Given the description of an element on the screen output the (x, y) to click on. 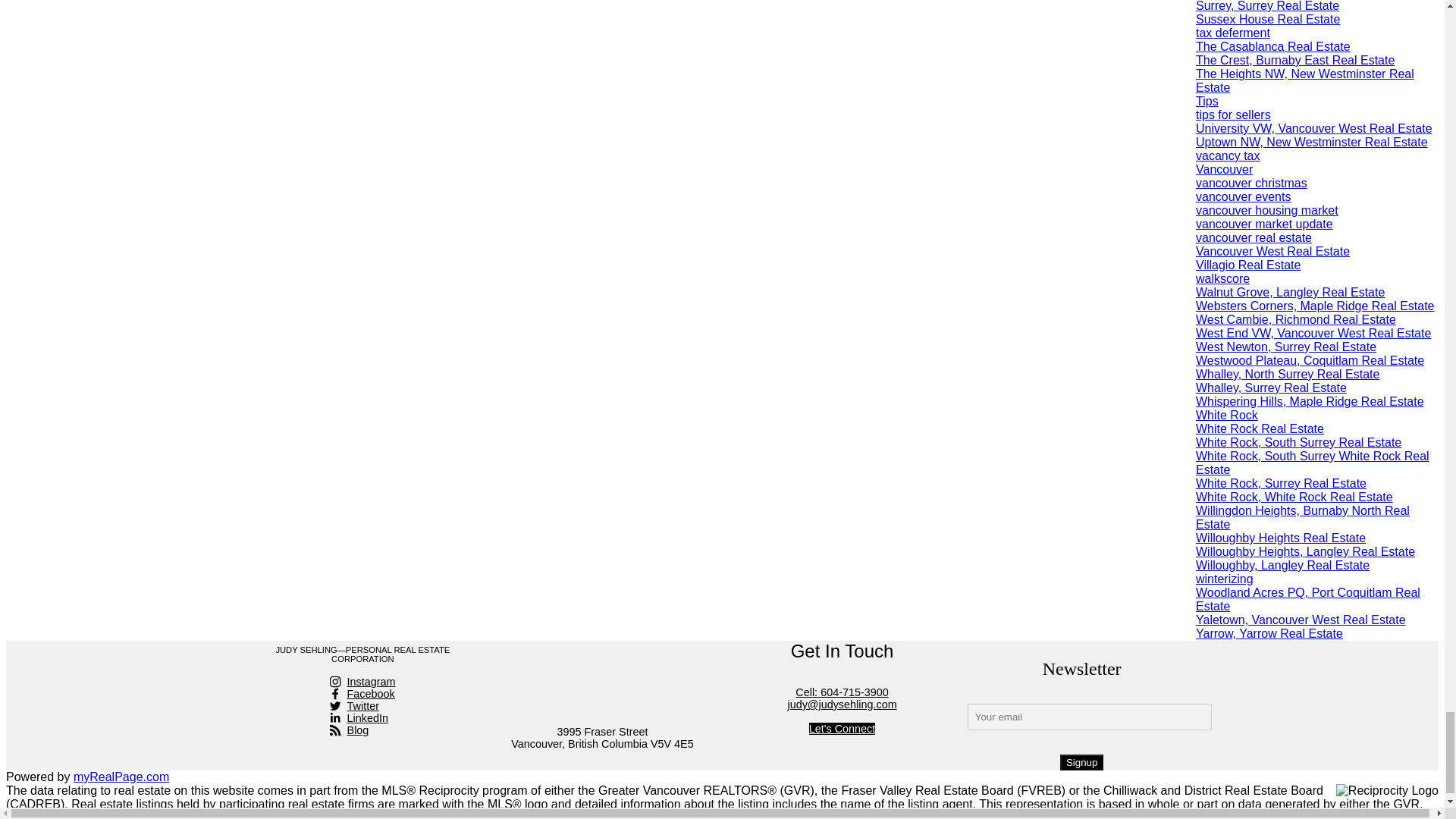
Instagram (362, 681)
Facebook (362, 693)
Twitter (362, 705)
LinkedIn (362, 717)
Blog (362, 729)
